Given the description of an element on the screen output the (x, y) to click on. 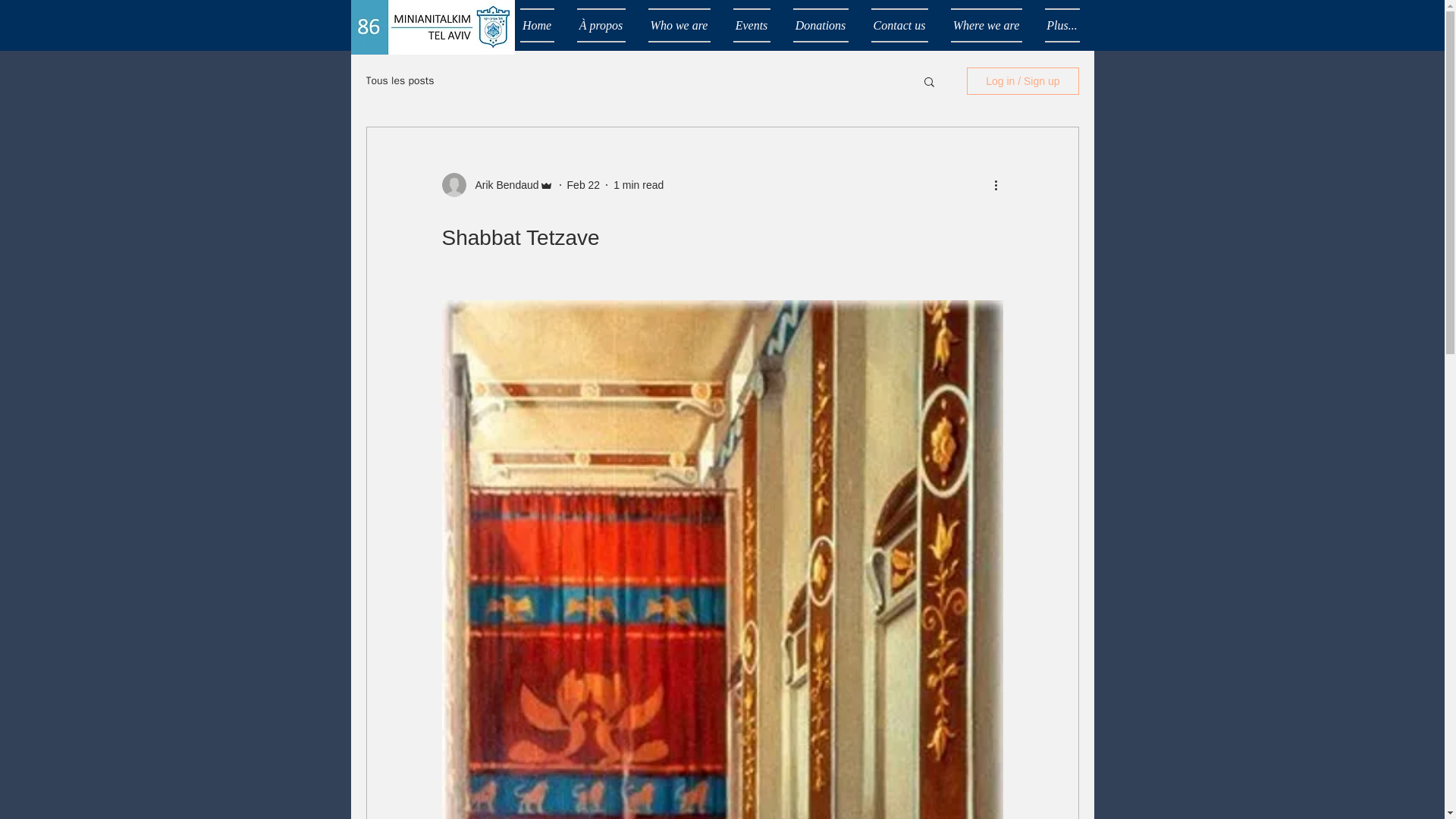
Donations (819, 25)
1 min read (637, 184)
Arik Bendaud (501, 185)
Where we are (985, 25)
Who we are (679, 25)
Feb 22 (583, 184)
Tous les posts (399, 80)
Events (751, 25)
Contact us (899, 25)
Home (542, 25)
